Given the description of an element on the screen output the (x, y) to click on. 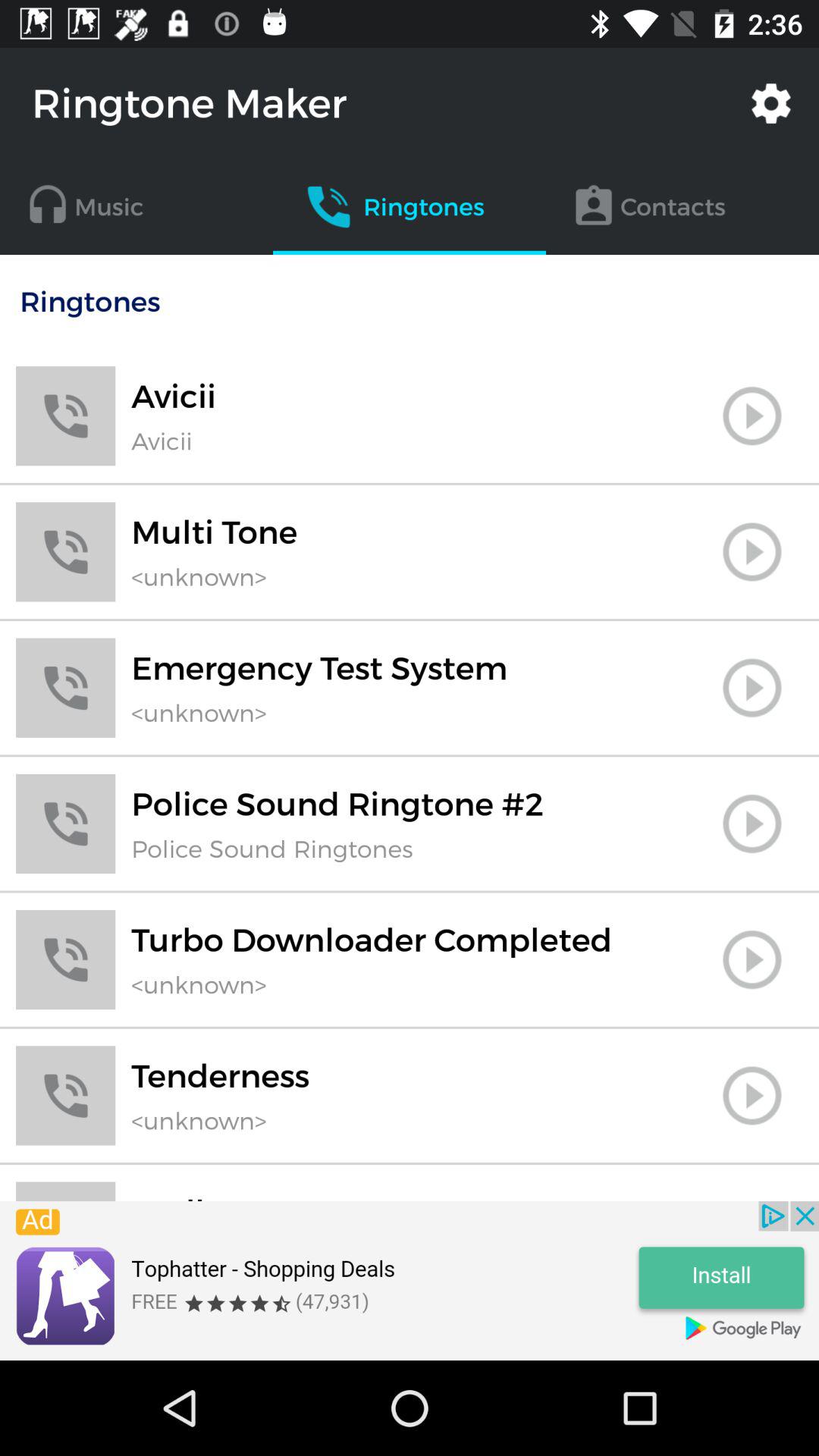
any document downloader finished (752, 959)
